Given the description of an element on the screen output the (x, y) to click on. 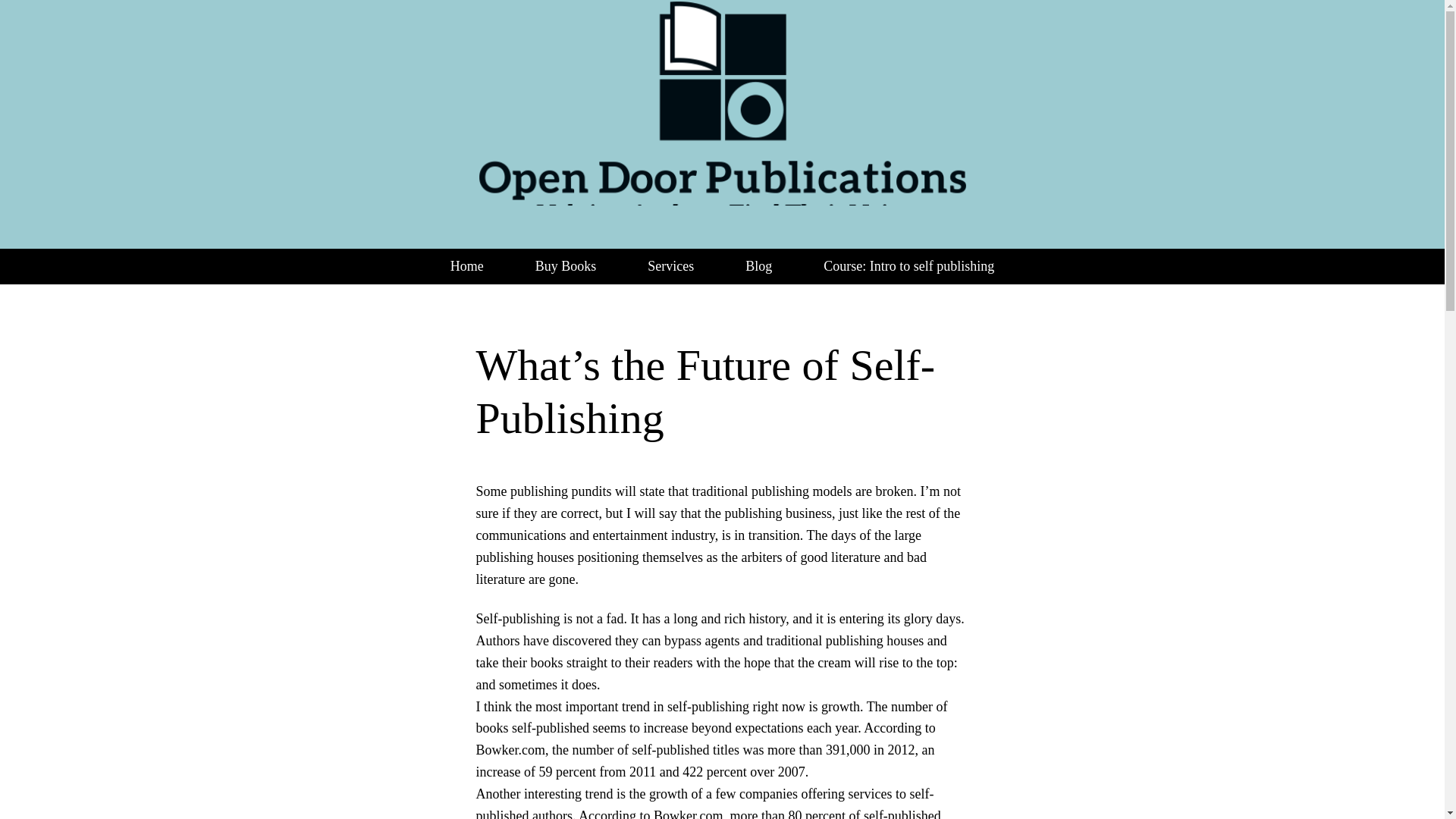
Buy Books (565, 266)
Course: Intro to self publishing (908, 266)
Services (670, 266)
Blog (759, 266)
Home (466, 266)
